Given the description of an element on the screen output the (x, y) to click on. 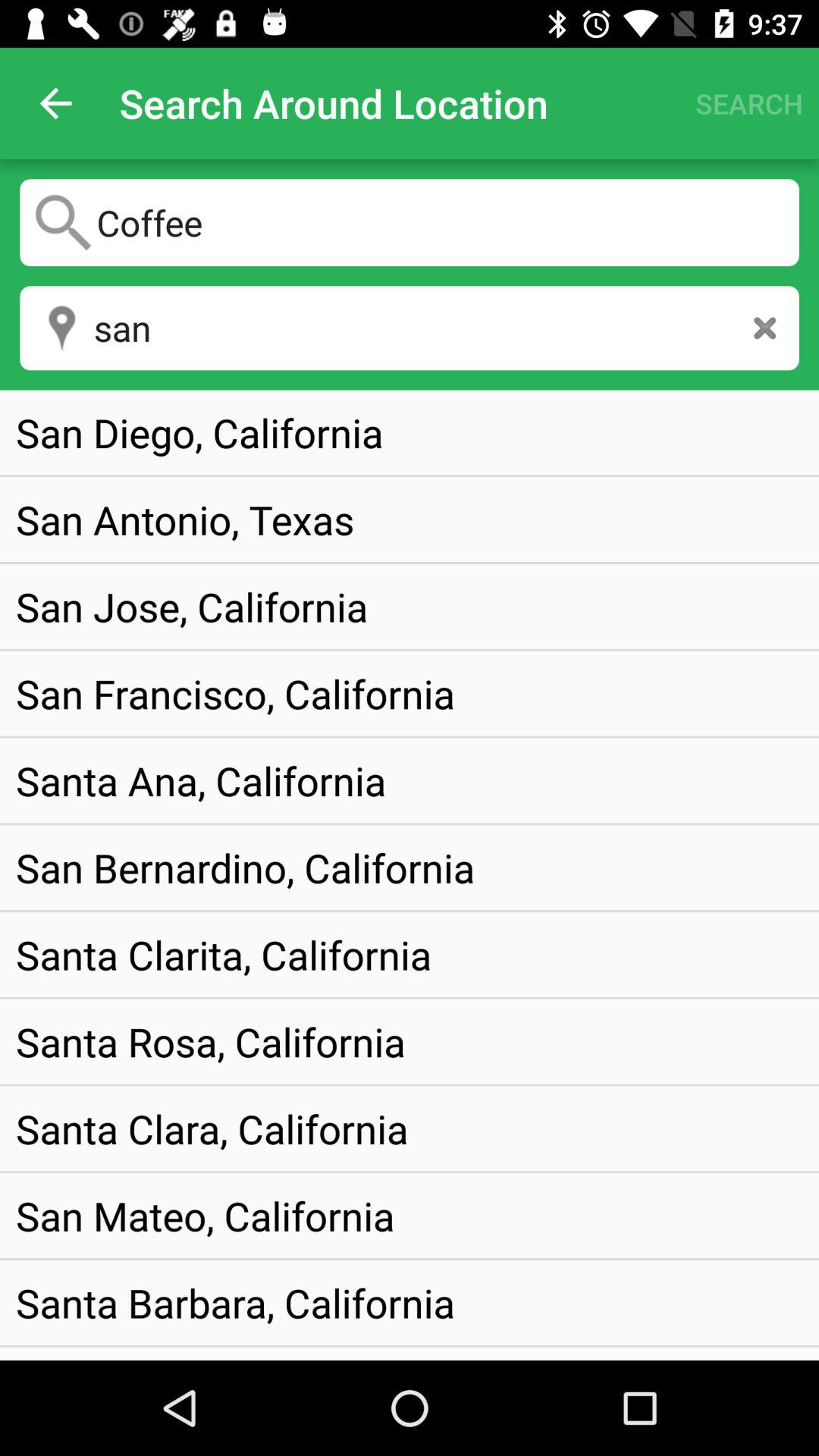
scroll to the santa clarita, california icon (223, 954)
